Given the description of an element on the screen output the (x, y) to click on. 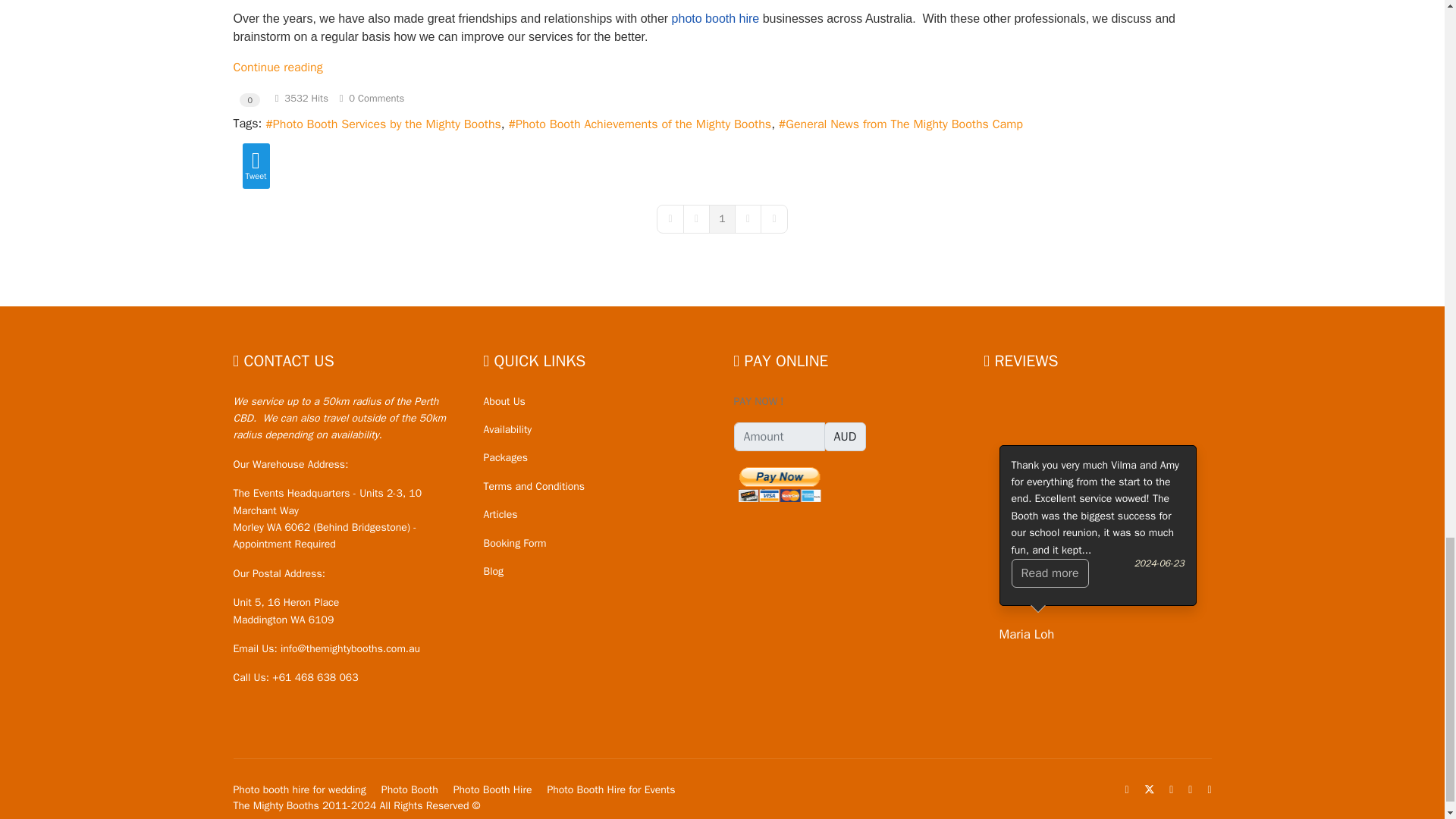
0 votes (250, 100)
